Given the description of an element on the screen output the (x, y) to click on. 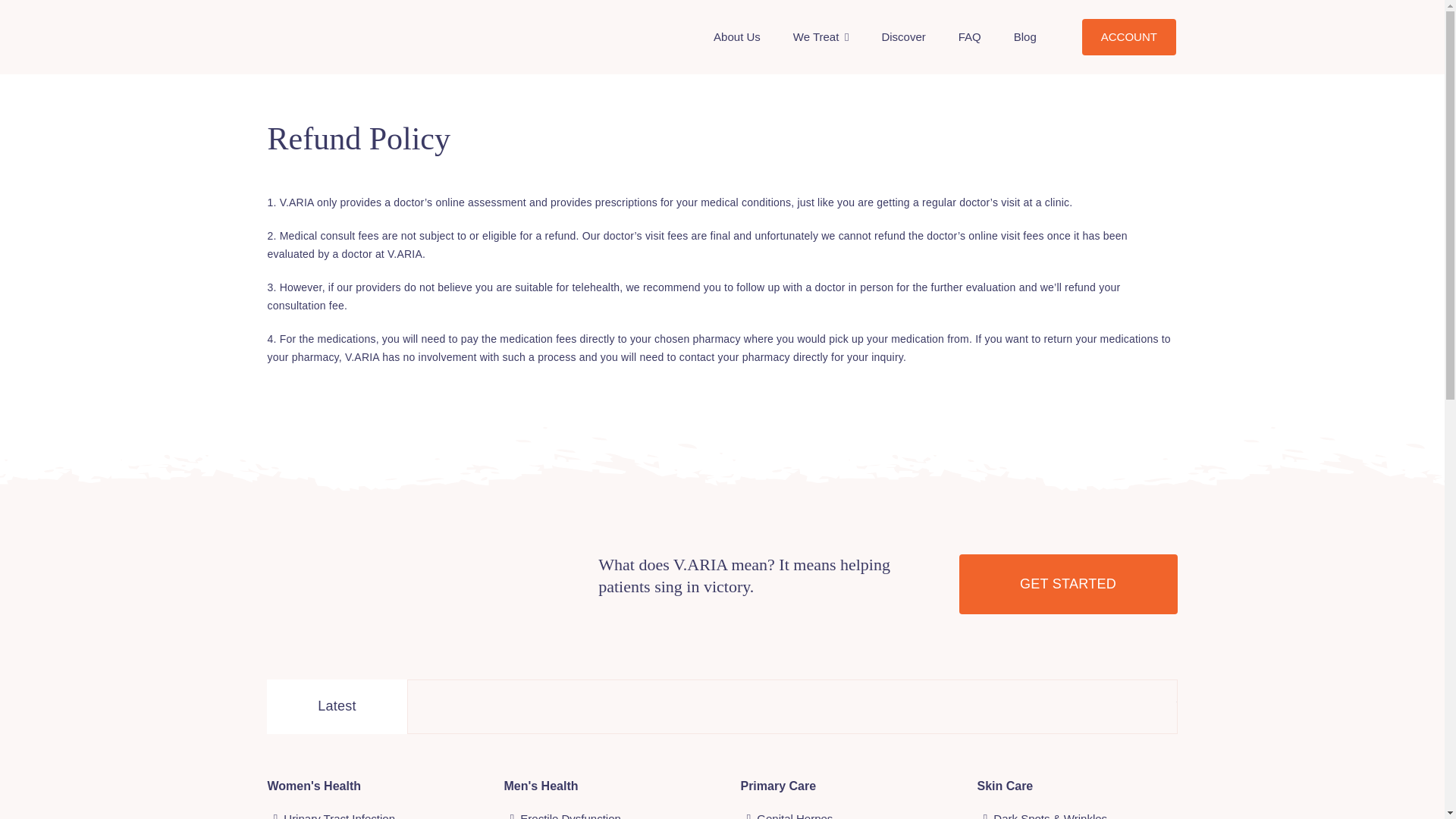
We Treat (820, 37)
FAQ (969, 37)
About Us (736, 37)
ACCOUNT (1128, 36)
Discover (902, 37)
Blog (1024, 37)
